Given the description of an element on the screen output the (x, y) to click on. 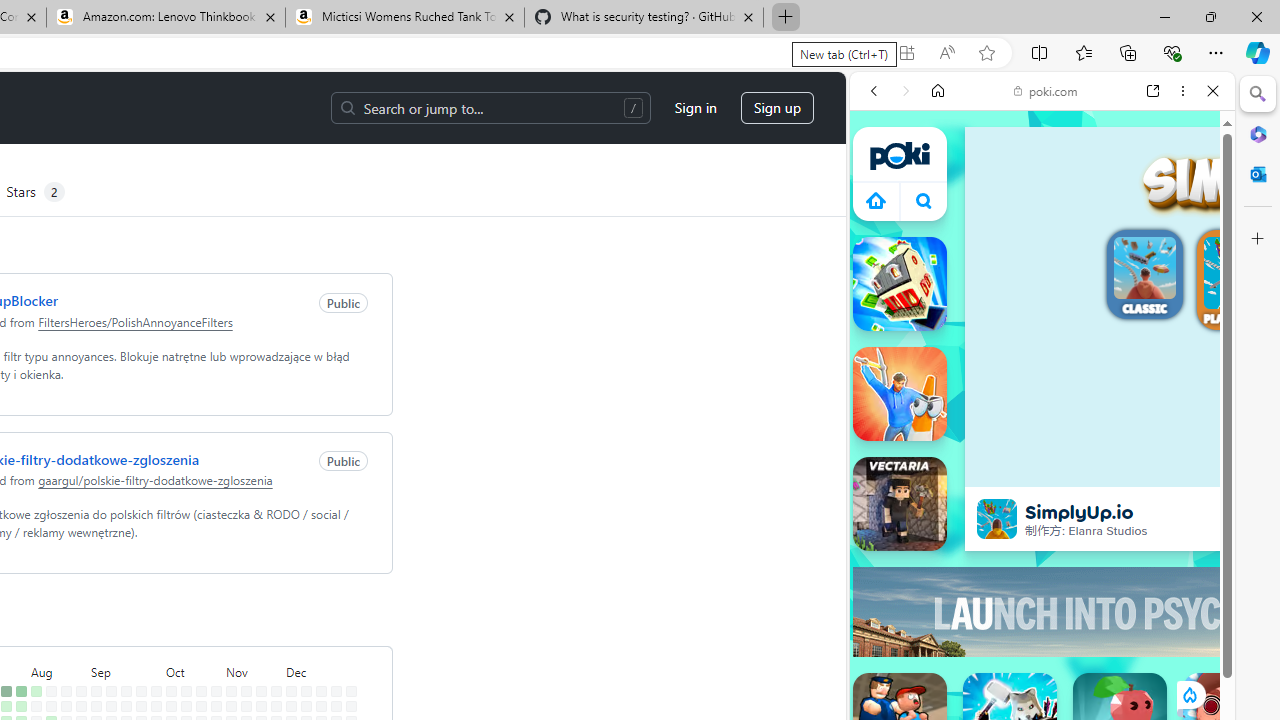
Show More Shooting Games (1164, 521)
This site scope (936, 180)
Poki - Free Online Games - Play Now! (1034, 309)
Search the web (1051, 137)
7 contributions on July 28th. (20, 691)
Poki (1034, 288)
Stack City Stack City (899, 283)
Vectaria.io (899, 503)
No contributions on August 18th. (66, 691)
FiltersHeroes/PolishAnnoyanceFilters (135, 321)
